Given the description of an element on the screen output the (x, y) to click on. 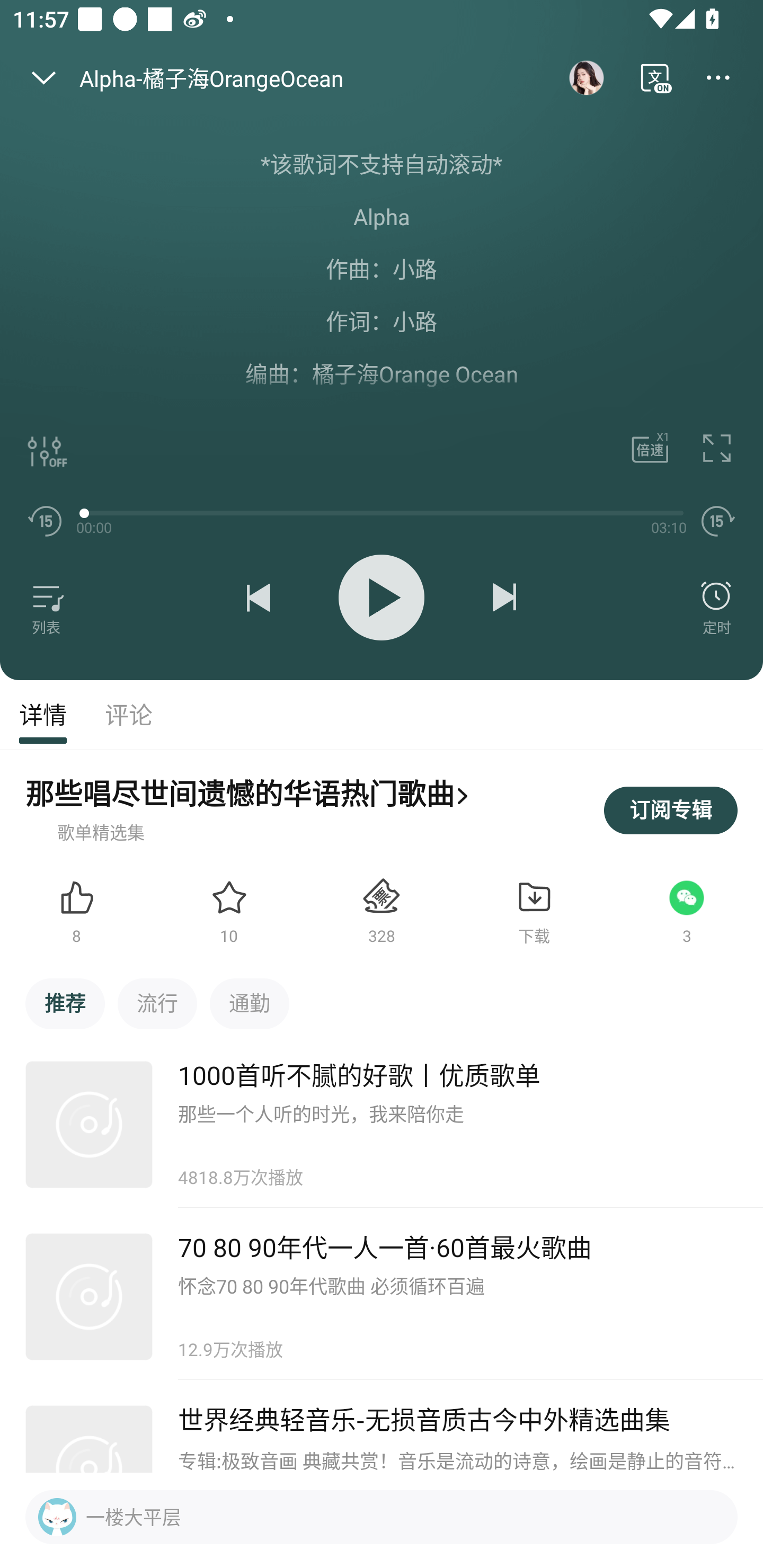
返回 (44, 78)
关闭文稿 (654, 78)
更多 (718, 78)
Alpha-橘子海OrangeOcean (298, 77)
文稿 文稿 文稿 (381, 273)
音效 (46, 449)
倍速播放，当前1倍 X1 (641, 449)
全屏 (716, 448)
0.0 播放进度条 (381, 513)
快退15秒 (46, 521)
快进15秒 (716, 521)
播放 (381, 597)
播放列表 (46, 597)
定时关闭 (716, 597)
播放上一首 (259, 597)
播放下一首 (503, 597)
定时 (716, 626)
评论 (128, 714)
那些唱尽世间遗憾的华语热门歌曲 (298, 794)
订阅专辑 (670, 810)
歌单精选集 (84, 832)
8 (76, 911)
10 (228, 911)
328 (381, 911)
下载 (533, 911)
分享 3 分享 (686, 911)
推荐 (65, 1003)
流行 (156, 1003)
通勤 (249, 1003)
1000首听不腻的好歌丨优质歌单 那些一个人听的时光，我来陪你走 4818.8万次播放 (381, 1120)
那些一个人听的时光，我来陪你走 (457, 1108)
怀念70 80 90年代歌曲 必须循环百遍 (457, 1280)
一楼大平层 点击评论 (411, 1516)
